Given the description of an element on the screen output the (x, y) to click on. 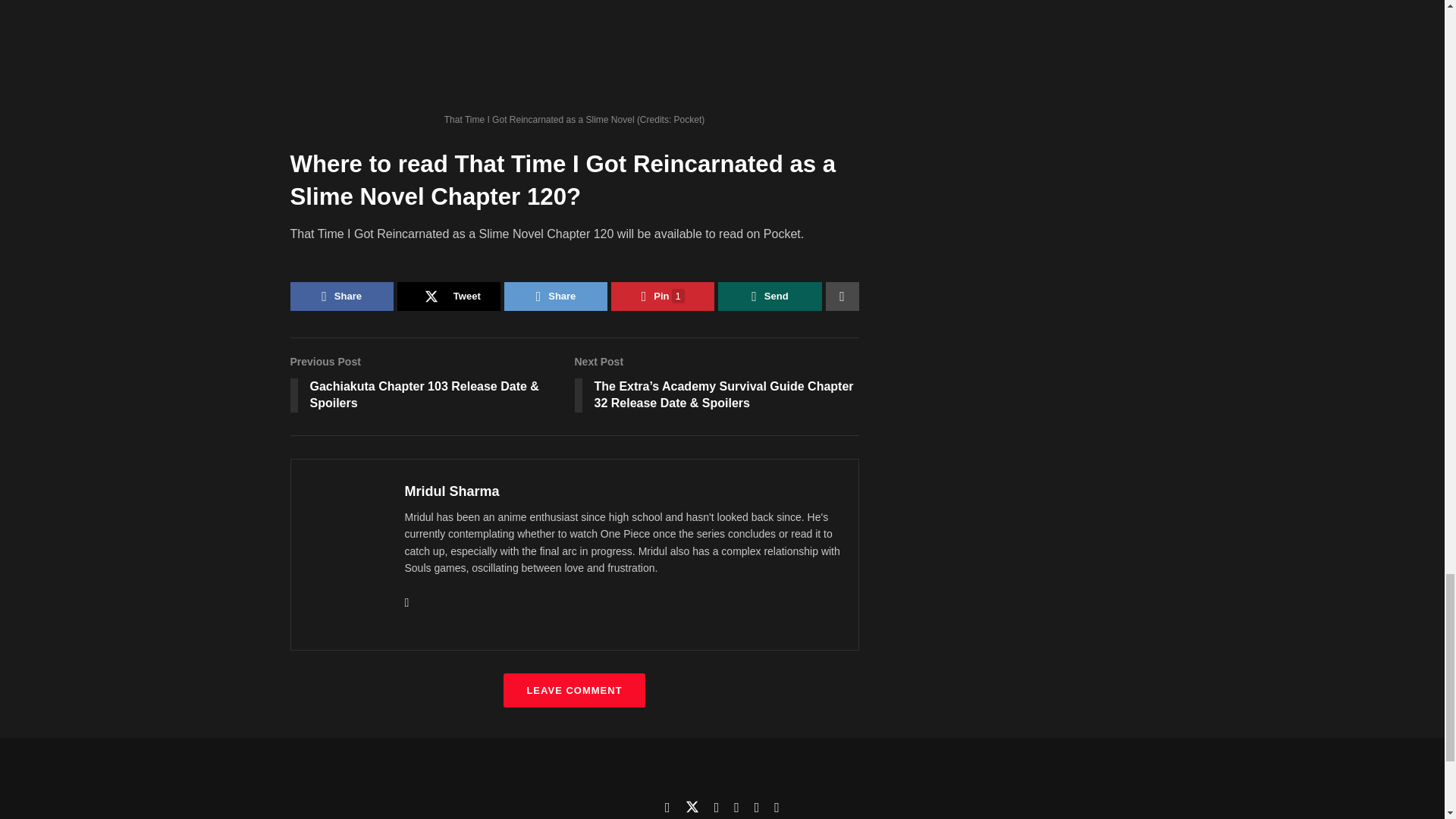
Tweet (448, 296)
Pin1 (662, 296)
Share (341, 296)
Send (769, 296)
Mridul Sharma (451, 491)
Share (555, 296)
